Given the description of an element on the screen output the (x, y) to click on. 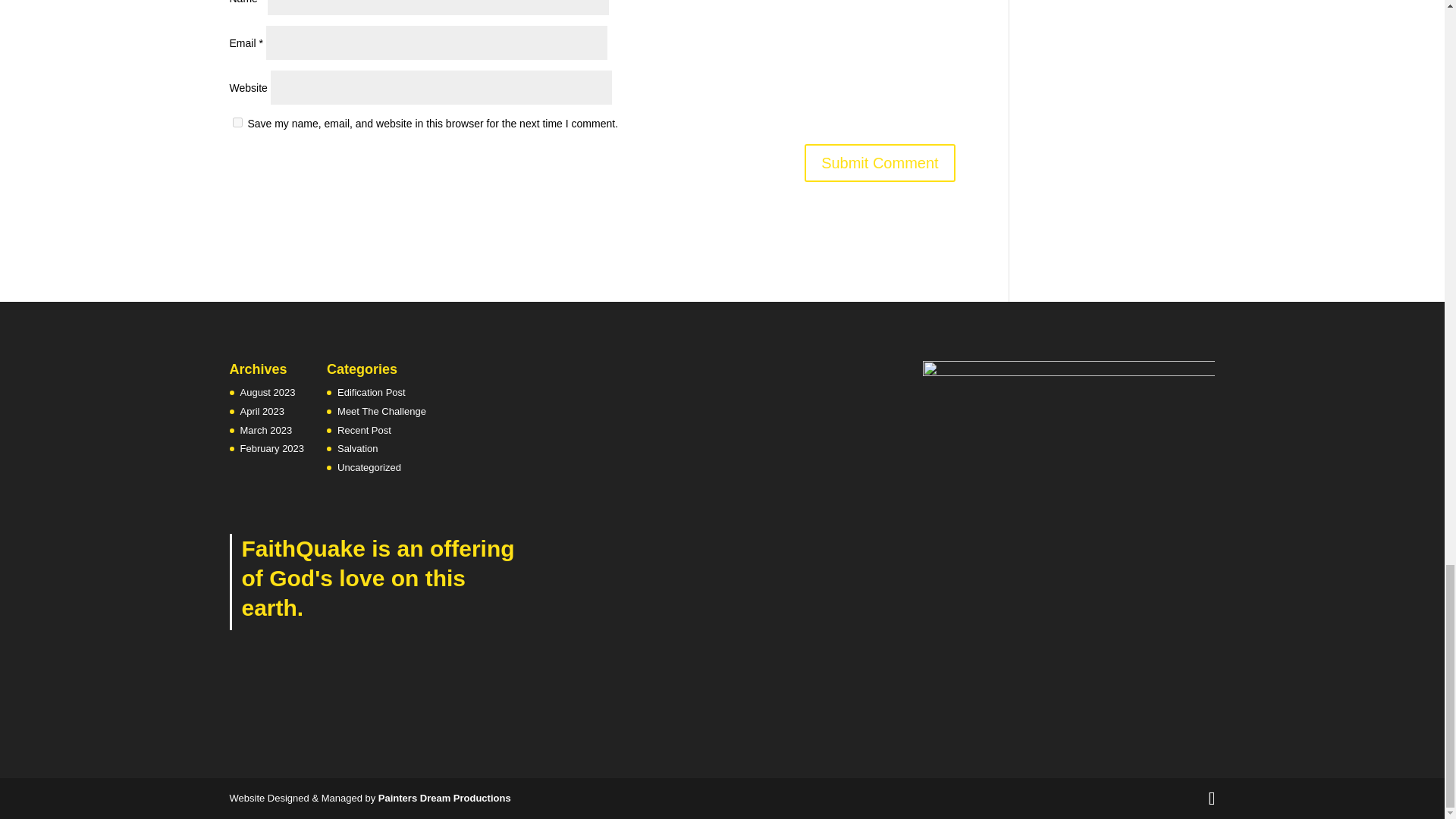
Edification Post (371, 392)
Meet The Challenge (381, 410)
February 2023 (272, 448)
August 2023 (267, 392)
April 2023 (261, 410)
Salvation (357, 448)
March 2023 (266, 430)
Uncategorized (369, 467)
yes (236, 122)
Painters Dream Productions (444, 797)
